Given the description of an element on the screen output the (x, y) to click on. 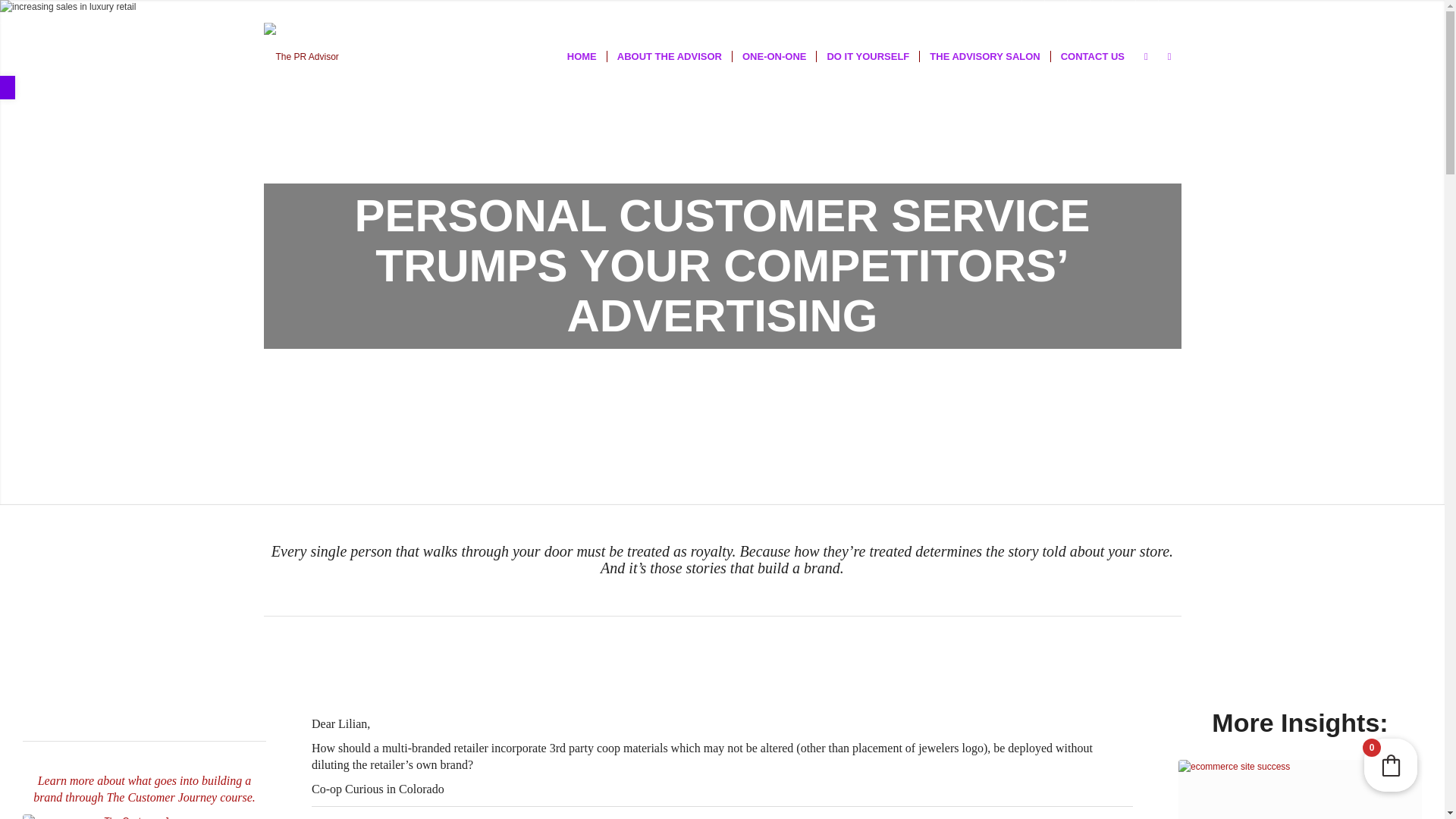
ONE-ON-ONE (774, 56)
Pinterest (1101, 11)
THE ADVISORY SALON (983, 56)
The PR Advisor Logo (301, 56)
LinkedIn (1124, 11)
Youtube (1056, 11)
ABOUT THE ADVISOR (669, 56)
Instagram (1010, 11)
Facebook (1032, 11)
DO IT YOURSELF (866, 56)
CONTACT US (1091, 56)
TikTok (1078, 11)
Mail (1169, 11)
Rss (1146, 11)
